Given the description of an element on the screen output the (x, y) to click on. 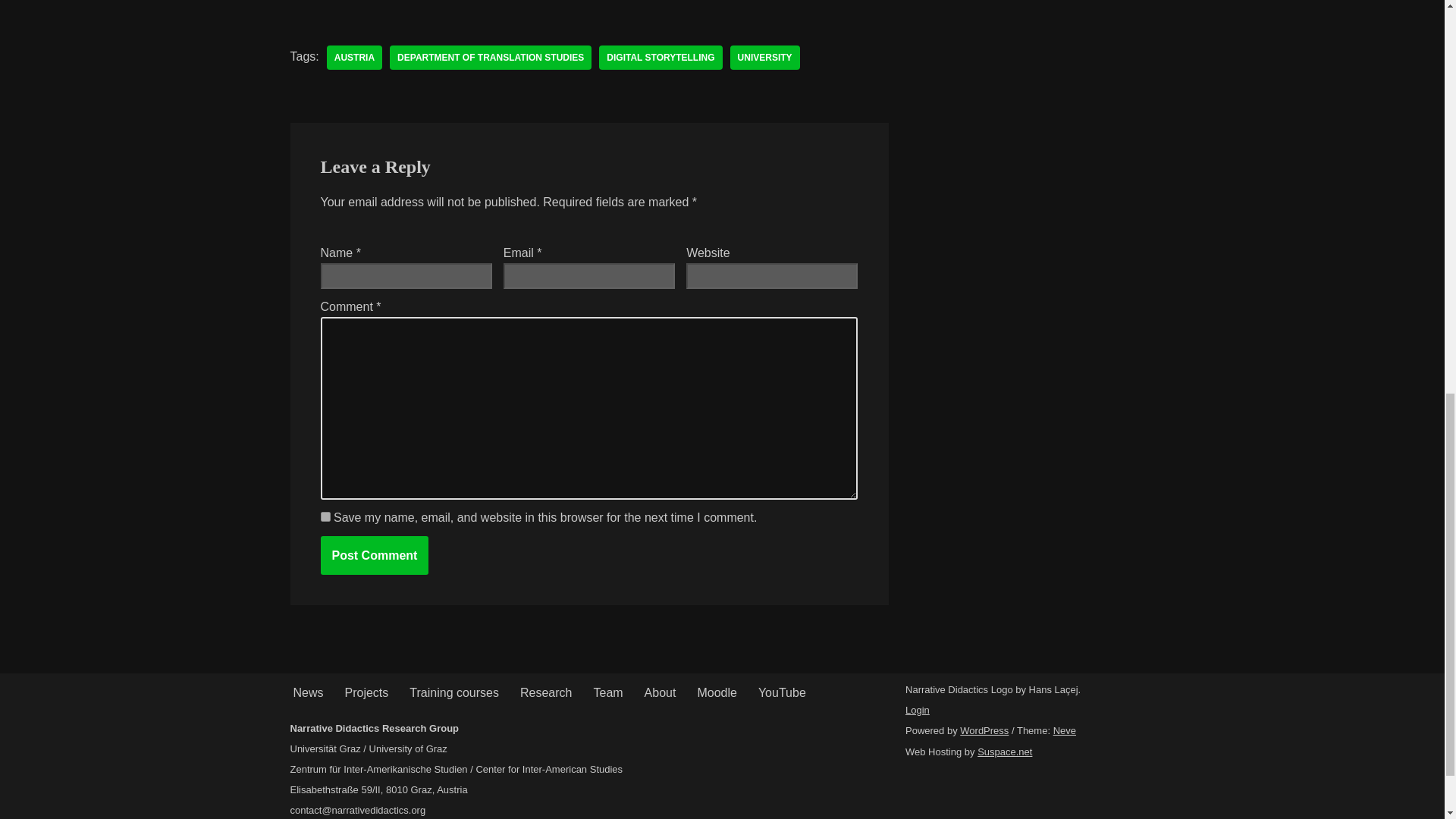
Post Comment (374, 554)
Austria (353, 57)
Digital Storytelling (660, 57)
University (764, 57)
Department of Translation Studies (490, 57)
yes (325, 516)
